Given the description of an element on the screen output the (x, y) to click on. 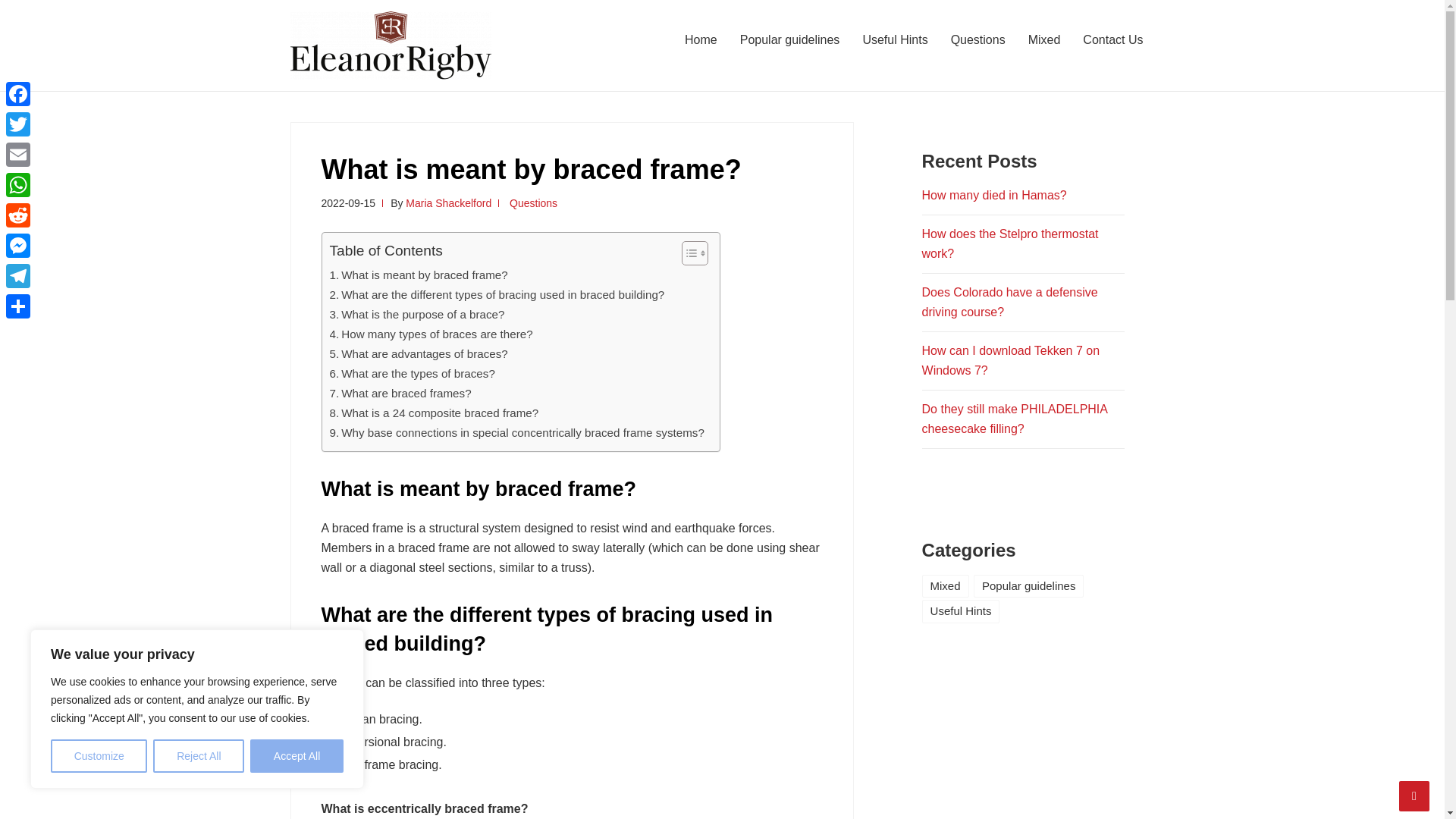
Twitter (17, 123)
Reject All (198, 756)
What is meant by braced frame? (417, 275)
What are advantages of braces? (417, 353)
Accept All (296, 756)
Mixed (1043, 39)
What is meant by braced frame? (417, 275)
What is the purpose of a brace? (416, 314)
What are the types of braces? (412, 373)
Maria Shackelford (449, 203)
Facebook (17, 93)
What is a 24 composite braced frame? (433, 413)
